Given the description of an element on the screen output the (x, y) to click on. 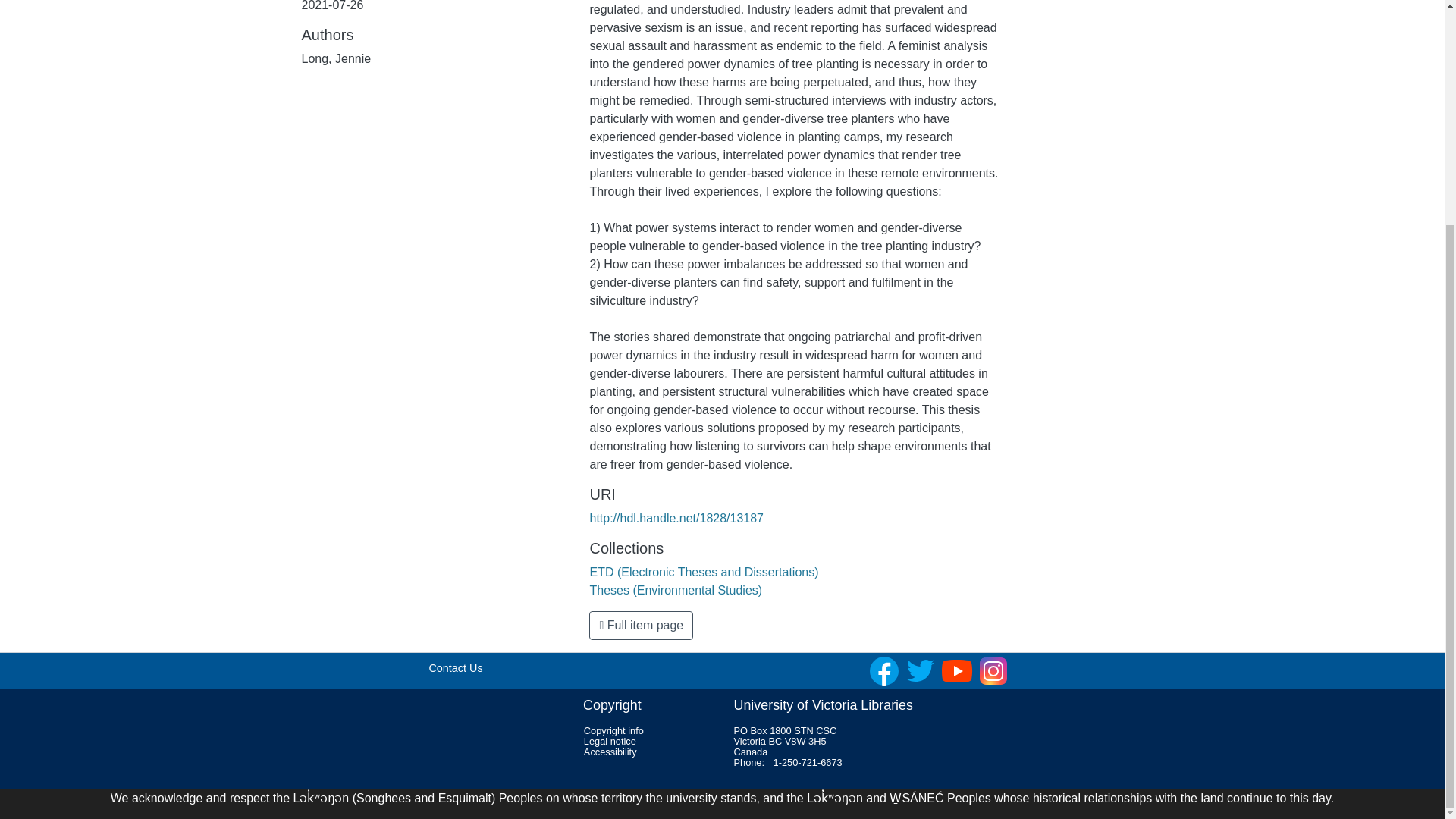
Full item page (641, 624)
Contact Us (454, 667)
